Given the description of an element on the screen output the (x, y) to click on. 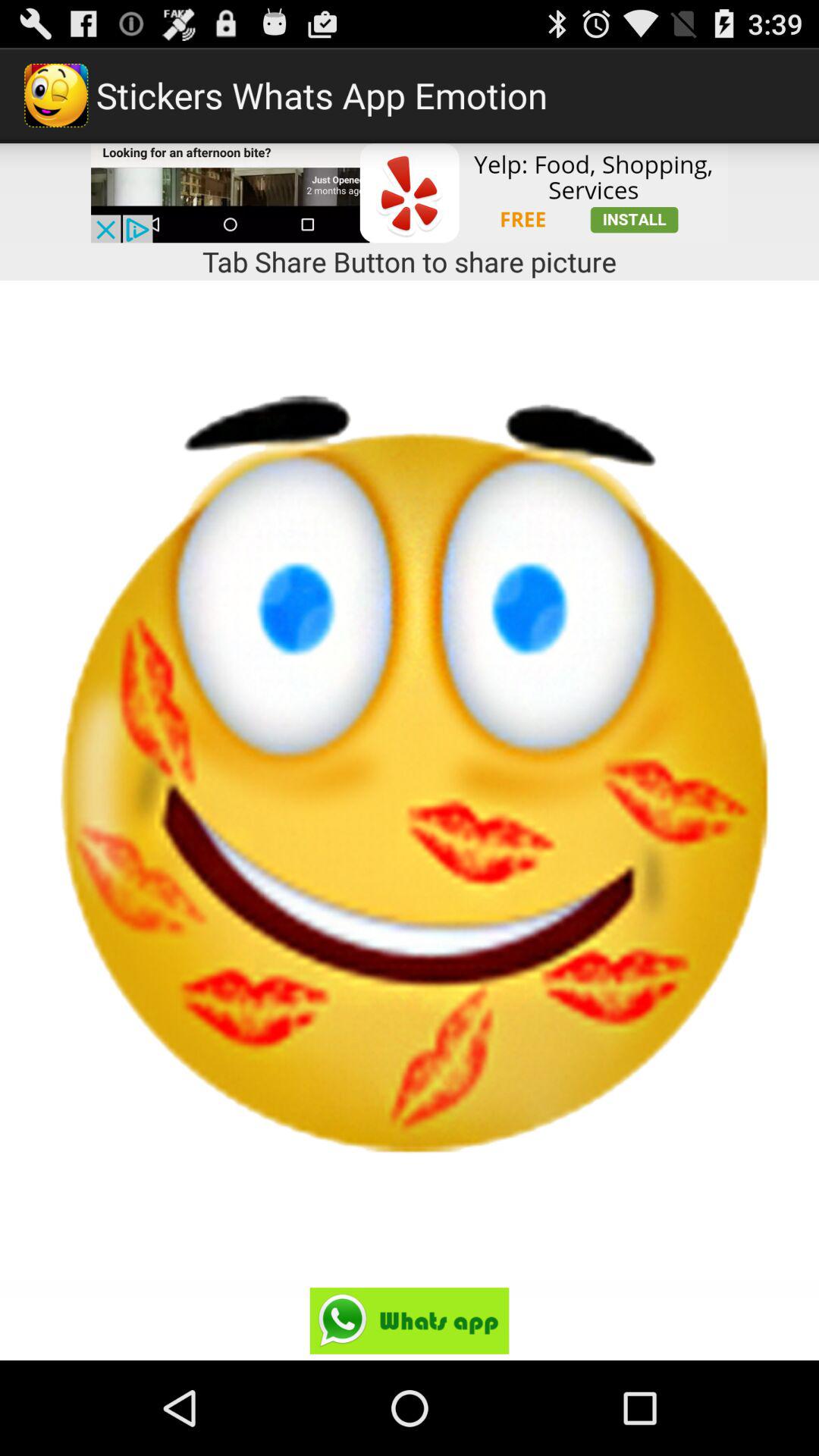
open whatsapp (409, 1320)
